Given the description of an element on the screen output the (x, y) to click on. 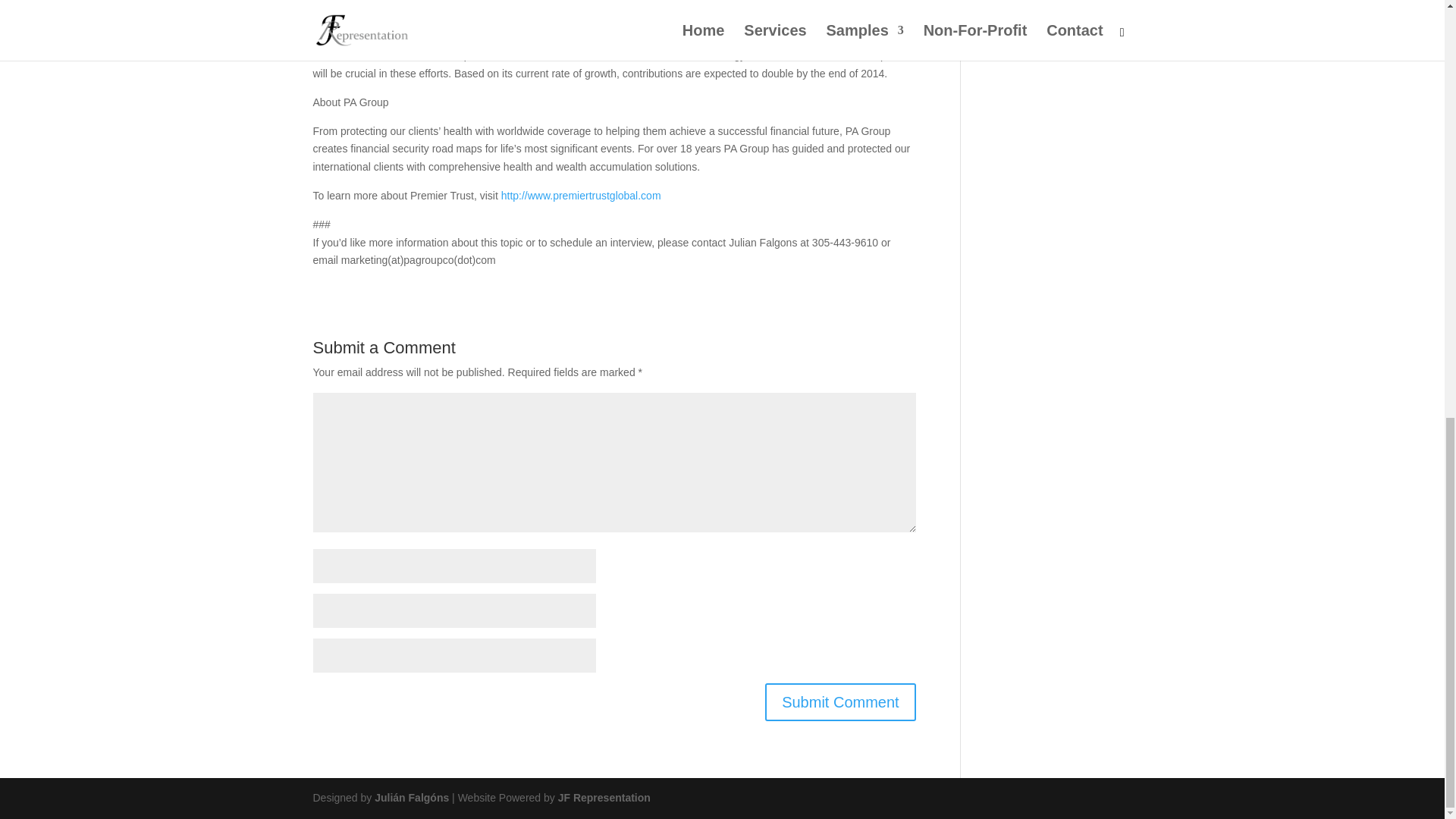
Bullmark Financial Group (579, 9)
Bullmark Financial Group (579, 9)
Submit Comment (840, 702)
Submit Comment (840, 702)
